Given the description of an element on the screen output the (x, y) to click on. 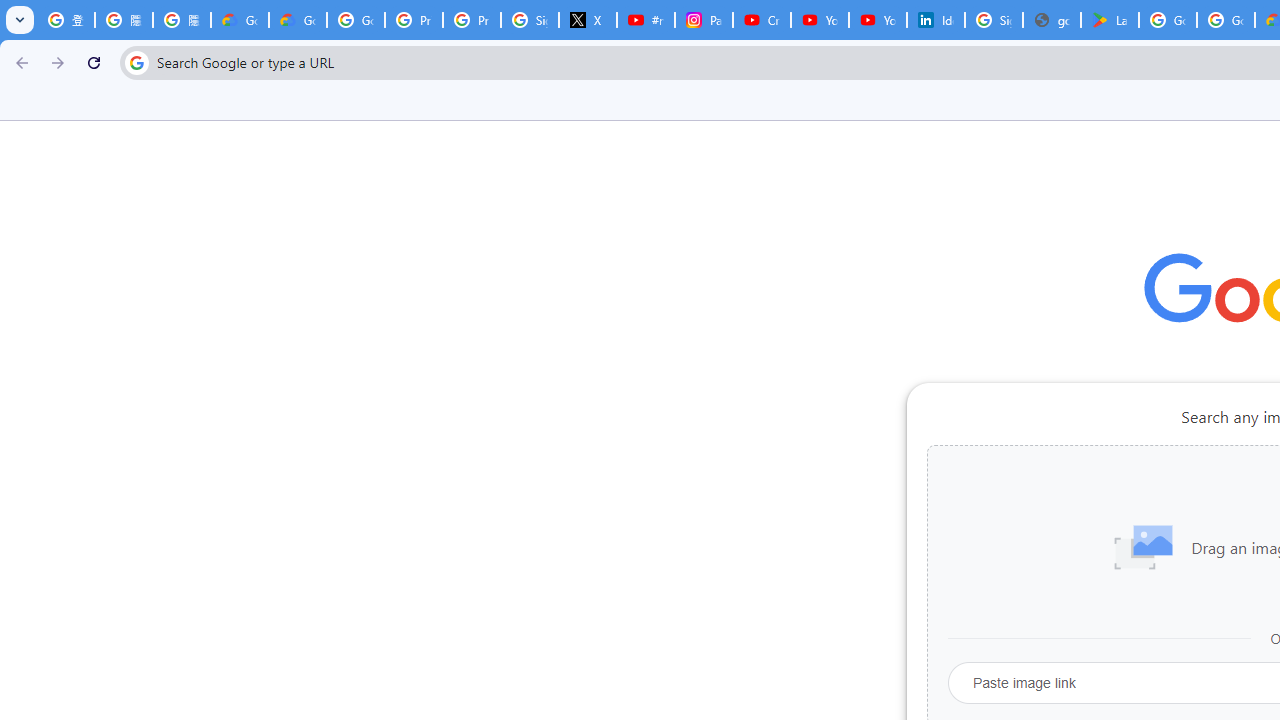
Google Cloud Privacy Notice (239, 20)
Google Workspace - Specific Terms (1225, 20)
Back (19, 62)
X (587, 20)
Privacy Help Center - Policies Help (471, 20)
Identity verification via Persona | LinkedIn Help (936, 20)
Sign in - Google Accounts (993, 20)
Sign in - Google Accounts (529, 20)
#nbabasketballhighlights - YouTube (645, 20)
